Given the description of an element on the screen output the (x, y) to click on. 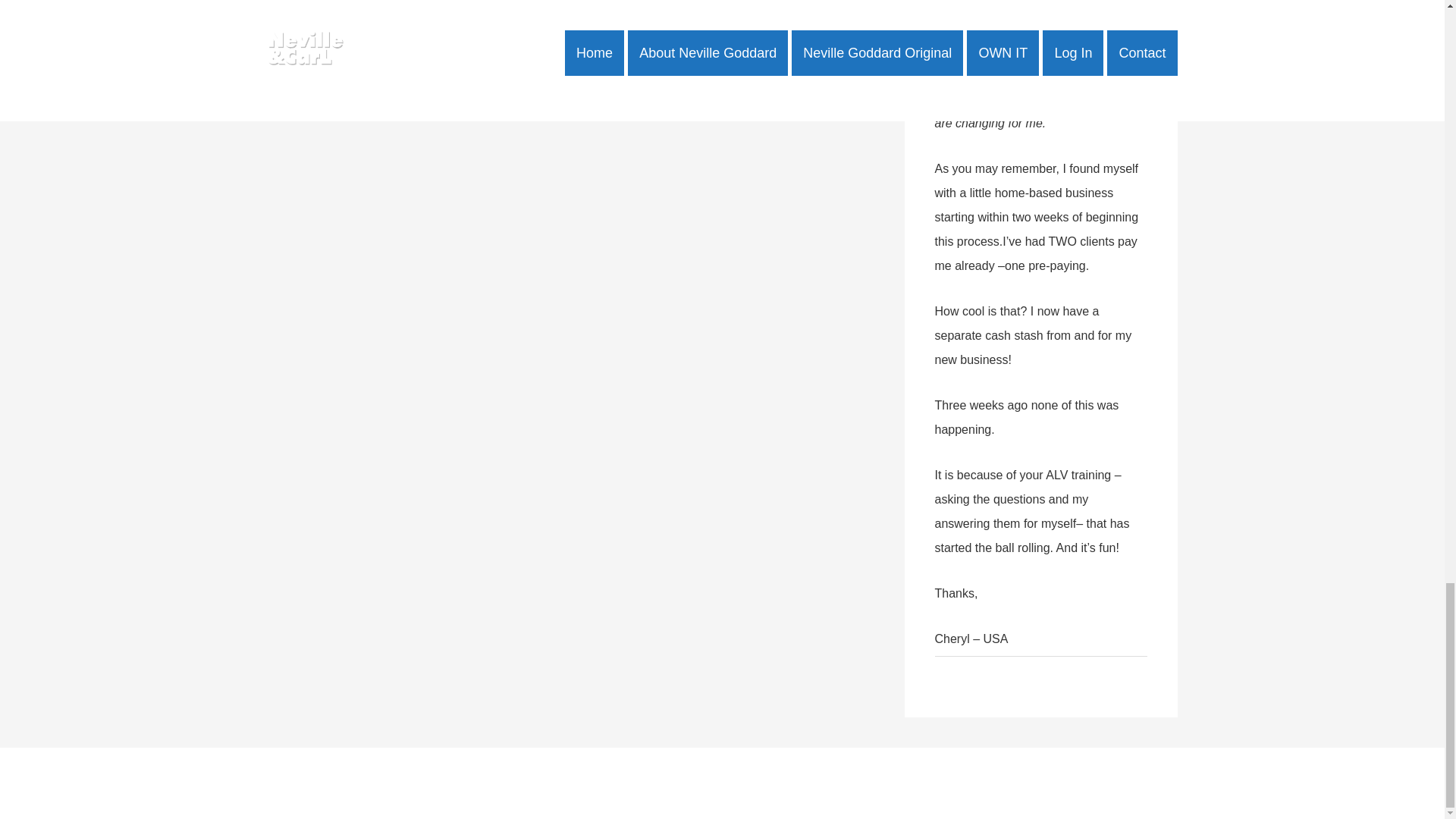
Neville Goddard Now. Lectures, books, audio, mp3, pdf (692, 783)
Privacy (900, 783)
Neville Goddard Your Faith Is Your Fortune (496, 70)
Cookies (977, 783)
Terms (937, 783)
Disclaimer (852, 783)
